Given the description of an element on the screen output the (x, y) to click on. 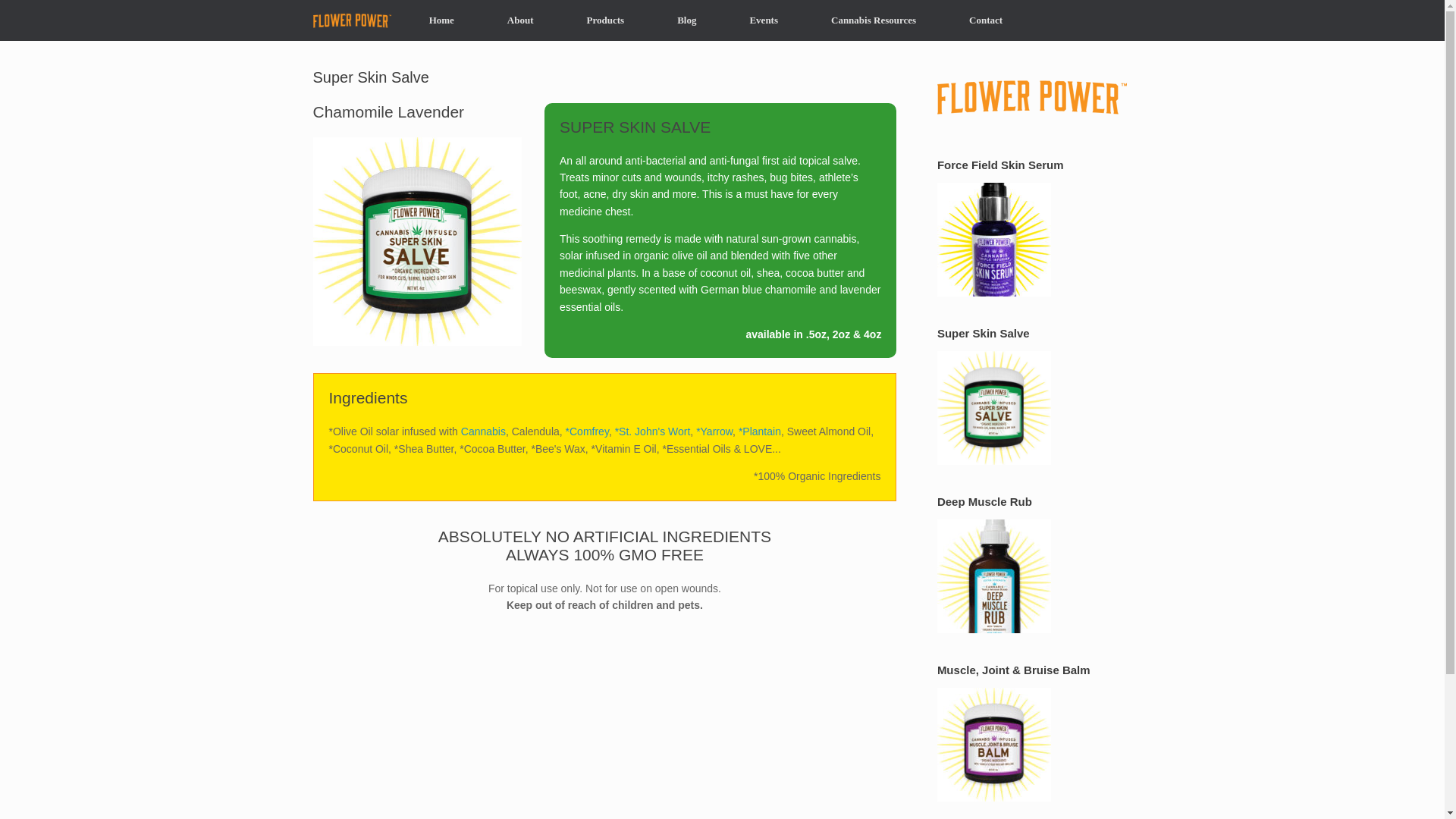
Force Field Skin Serum (994, 238)
Contact (985, 20)
Cannabis (483, 431)
About (520, 20)
Blog (686, 20)
Deep Muscle Rub (994, 575)
Flower Power (351, 20)
Super Skin Salve (994, 407)
Home (441, 20)
Events (763, 20)
Chamomile Lavender (417, 240)
Cannabis Resources (873, 20)
Products (605, 20)
